Given the description of an element on the screen output the (x, y) to click on. 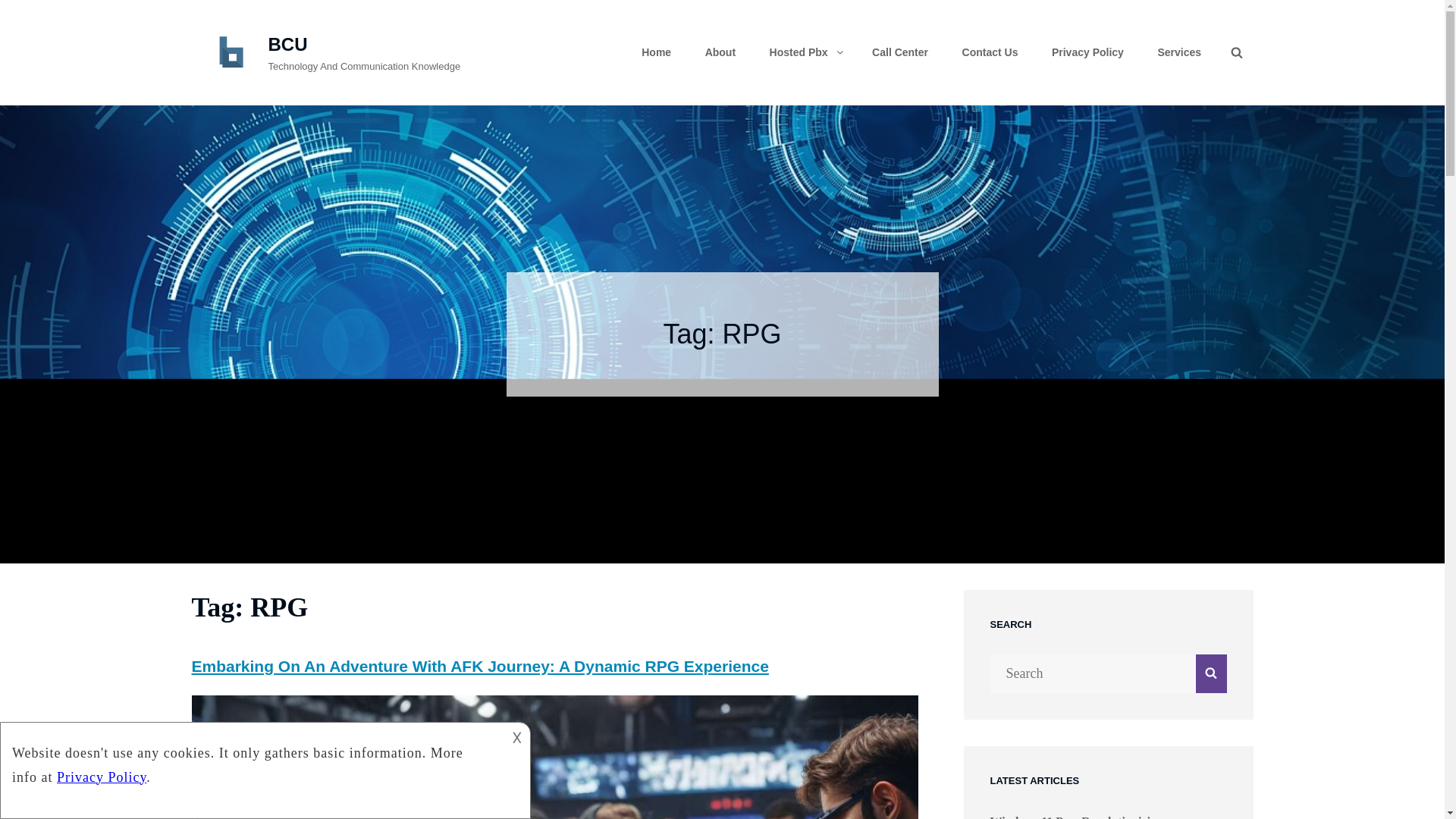
description (252, 760)
Home (655, 52)
Call Center (900, 52)
Privacy Policy (1087, 52)
About (720, 52)
Windows 11 Pro: Revolutionizing Communication Technology (1076, 816)
Contact Us (990, 52)
Hosted Pbx (803, 52)
Search (1236, 53)
